Given the description of an element on the screen output the (x, y) to click on. 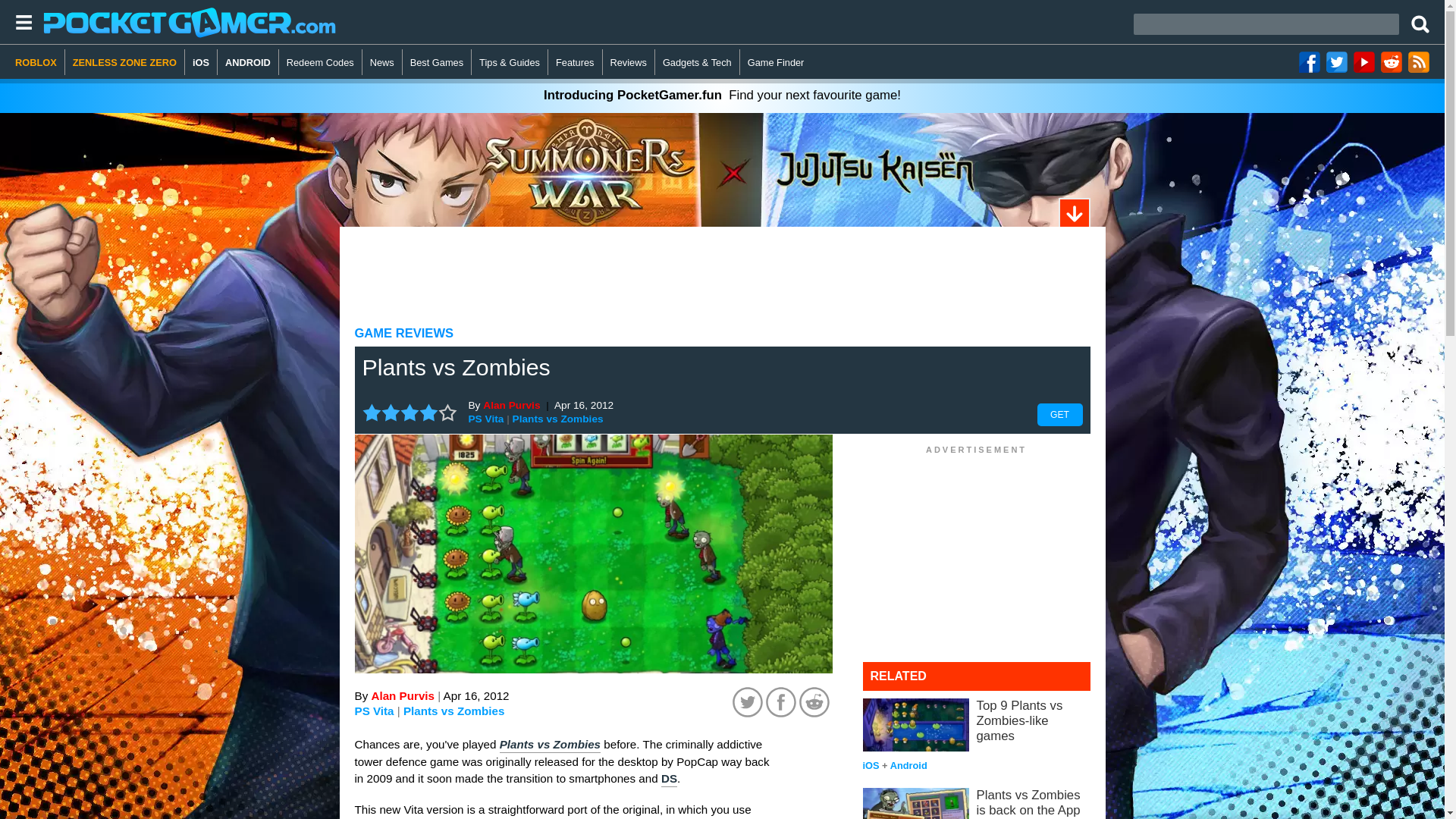
PS Vita (374, 710)
ANDROID (247, 62)
Features (575, 62)
iOS (200, 62)
Best Games (437, 62)
Plants vs Zombies (549, 744)
ZENLESS ZONE ZERO (124, 62)
Alan Purvis (511, 405)
Plants vs Zombies (558, 418)
Redeem Codes (320, 62)
DS (669, 779)
Alan Purvis (402, 695)
PS Vita (485, 419)
GAME REVIEWS (404, 332)
